Given the description of an element on the screen output the (x, y) to click on. 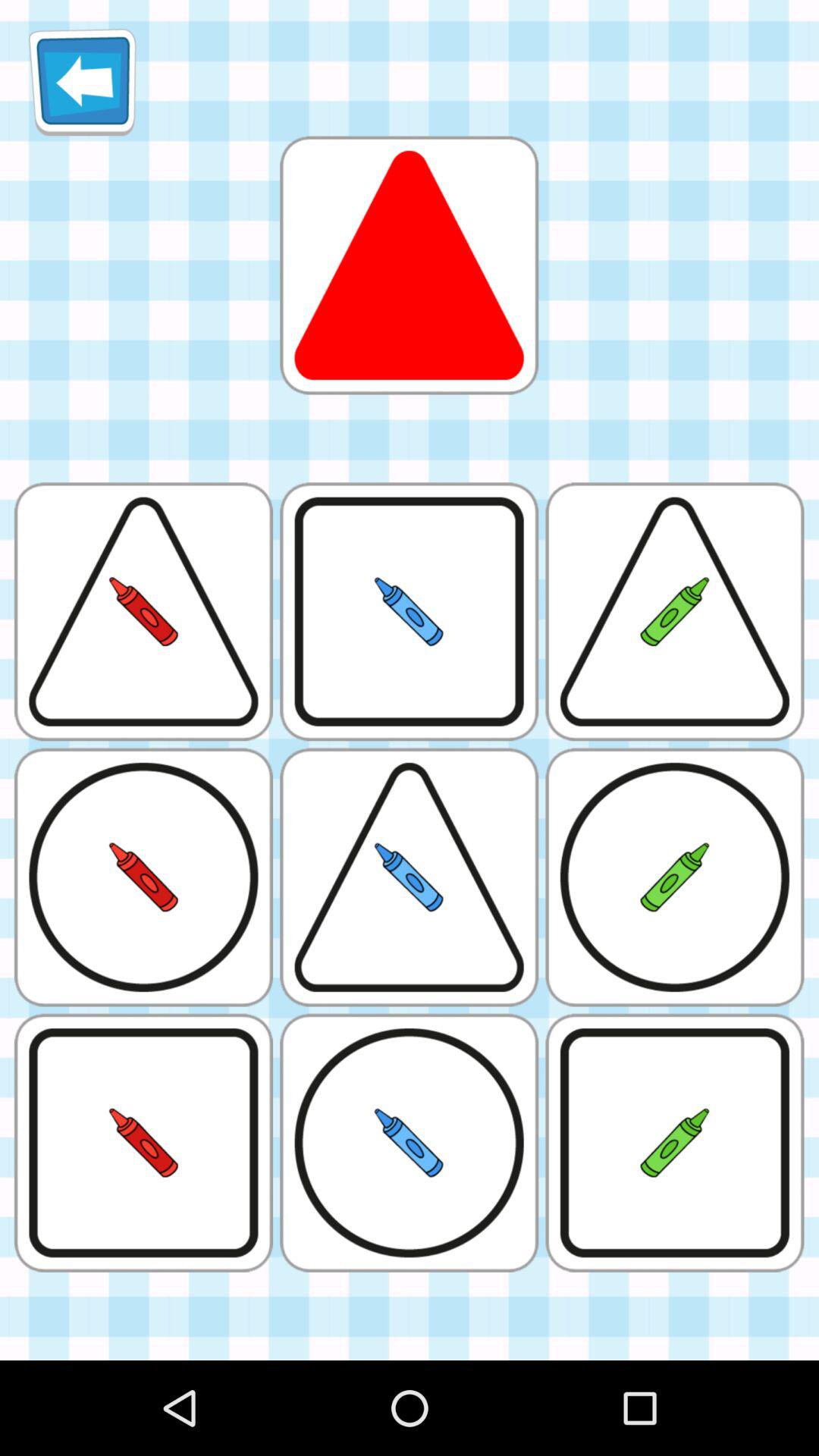
choose the red triangle (409, 265)
